Given the description of an element on the screen output the (x, y) to click on. 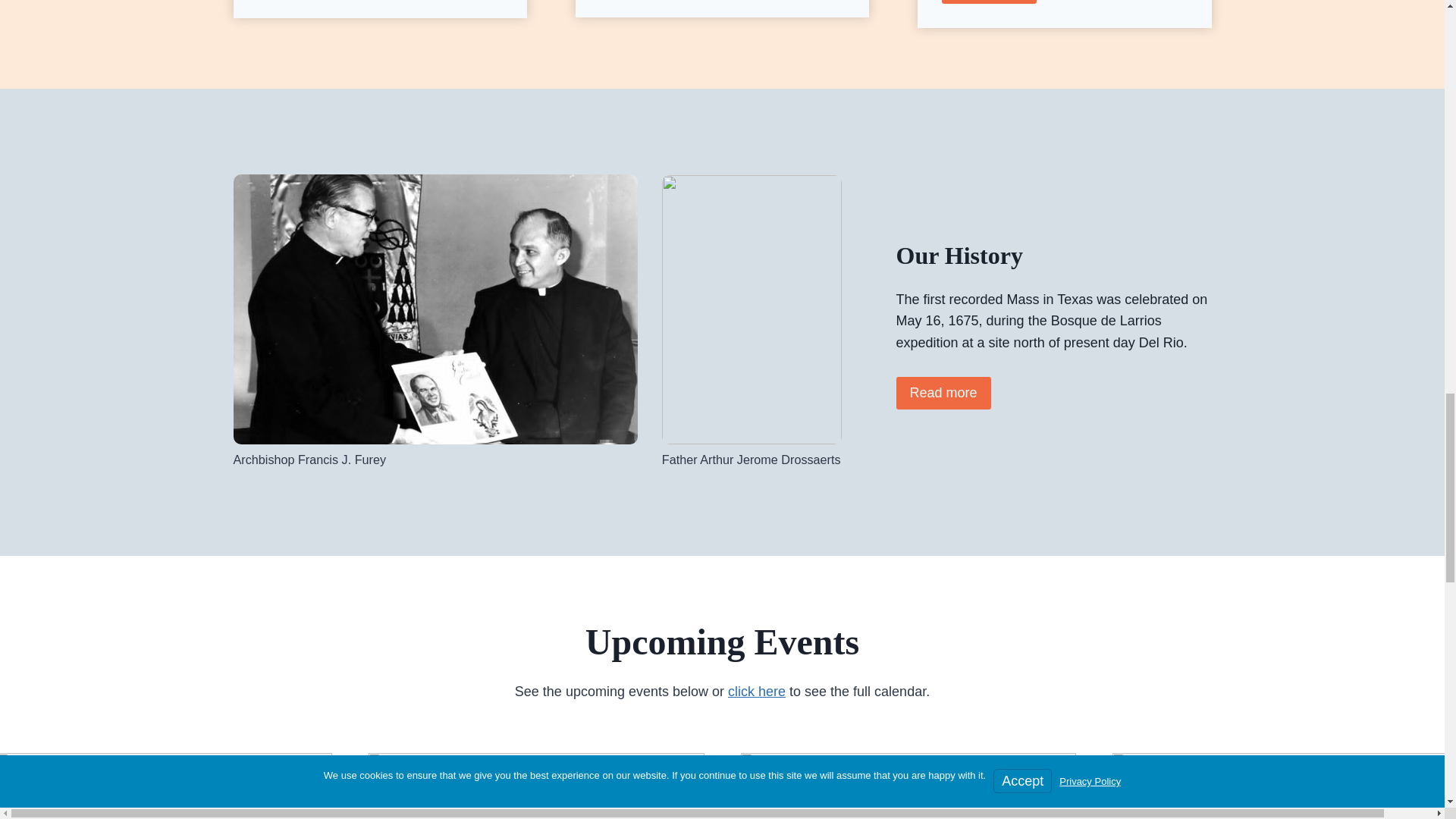
Read more (989, 2)
Read more (943, 392)
click here (757, 691)
